Given the description of an element on the screen output the (x, y) to click on. 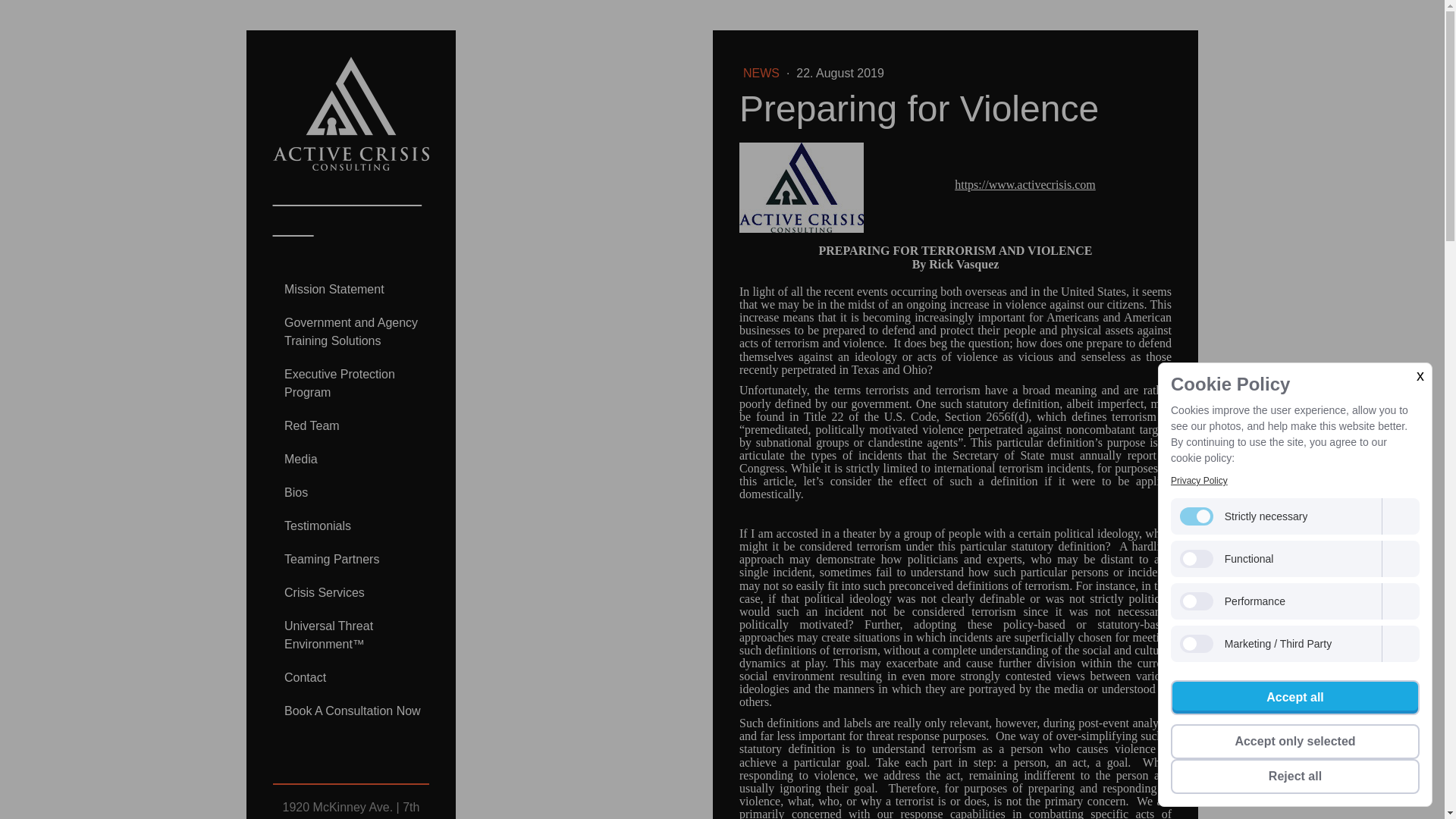
Testimonials (350, 525)
Executive Protection Program (350, 383)
NEWS (762, 72)
Contact (350, 677)
Media (350, 459)
Book A Consultation Now (350, 711)
Red Team (350, 426)
Teaming Partners (350, 559)
Crisis Services (350, 592)
Government and Agency Training Solutions (350, 331)
